Given the description of an element on the screen output the (x, y) to click on. 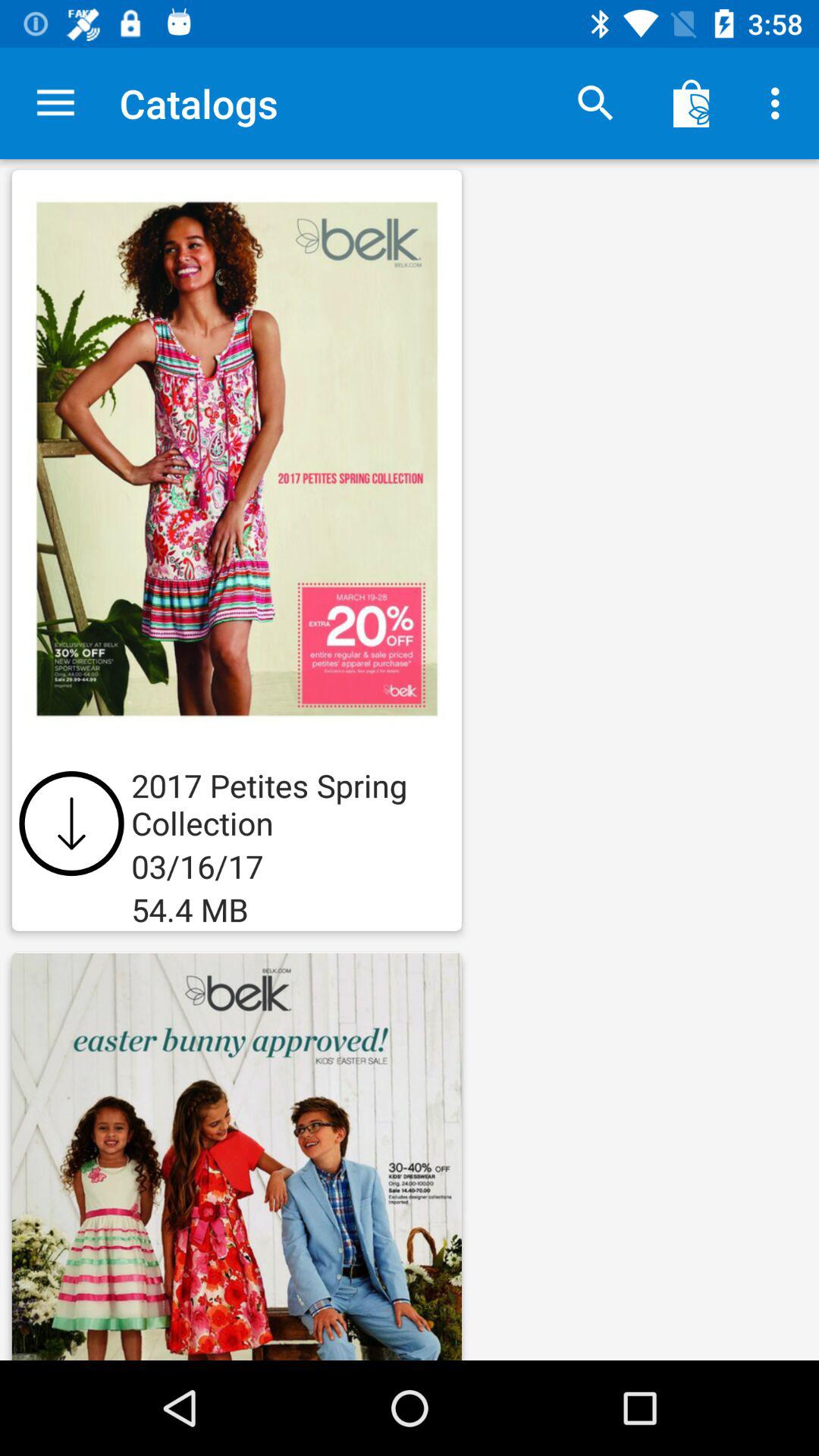
select the item to the left of catalogs item (55, 103)
